Given the description of an element on the screen output the (x, y) to click on. 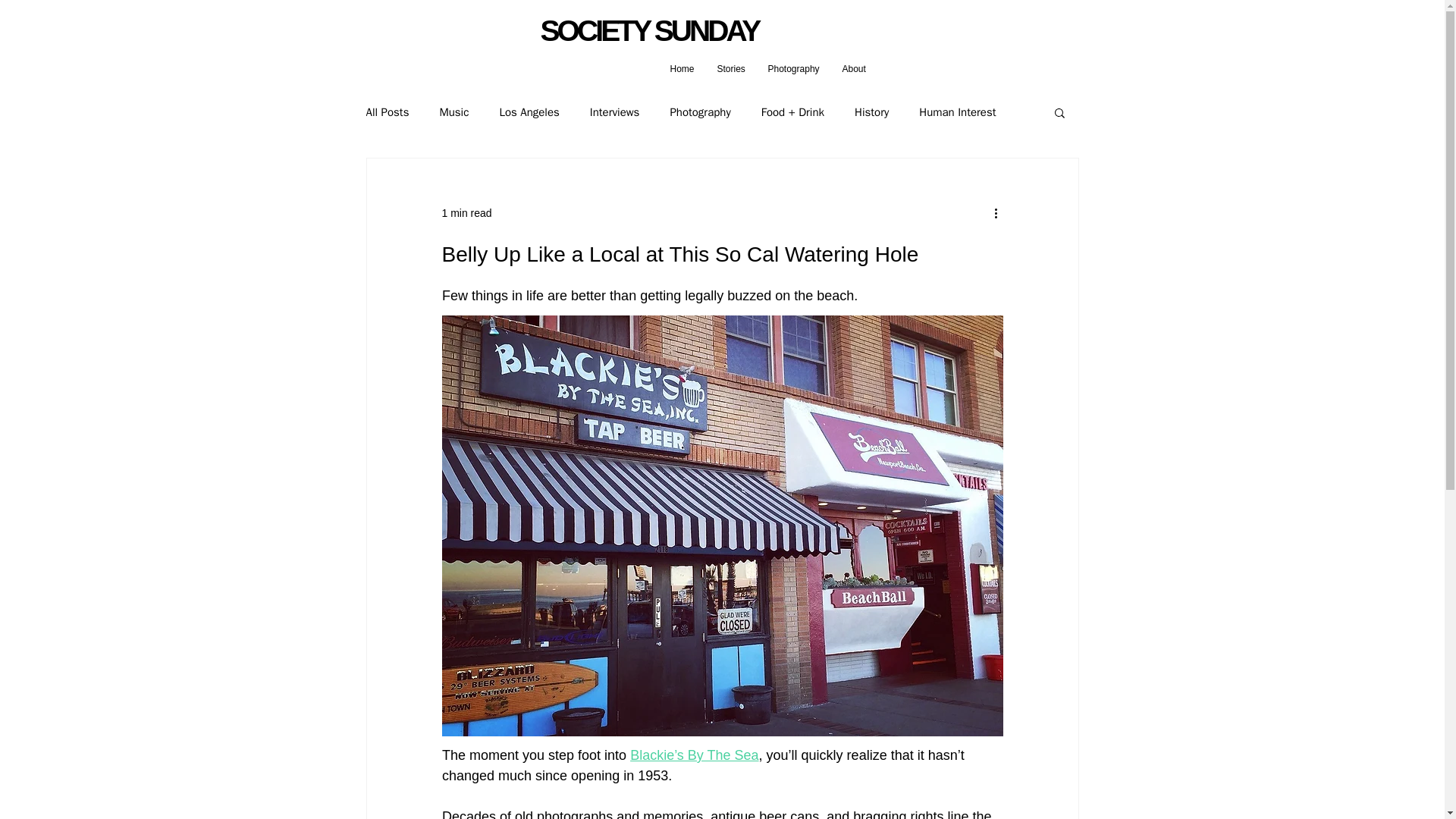
Photography (699, 111)
Interviews (614, 111)
Home (681, 68)
Human Interest (956, 111)
SOCIETY SUNDAY (649, 30)
History (871, 111)
Photography (794, 68)
All Posts (387, 111)
Stories (729, 68)
Music (453, 111)
About (854, 68)
1 min read (466, 212)
Los Angeles (529, 111)
